Given the description of an element on the screen output the (x, y) to click on. 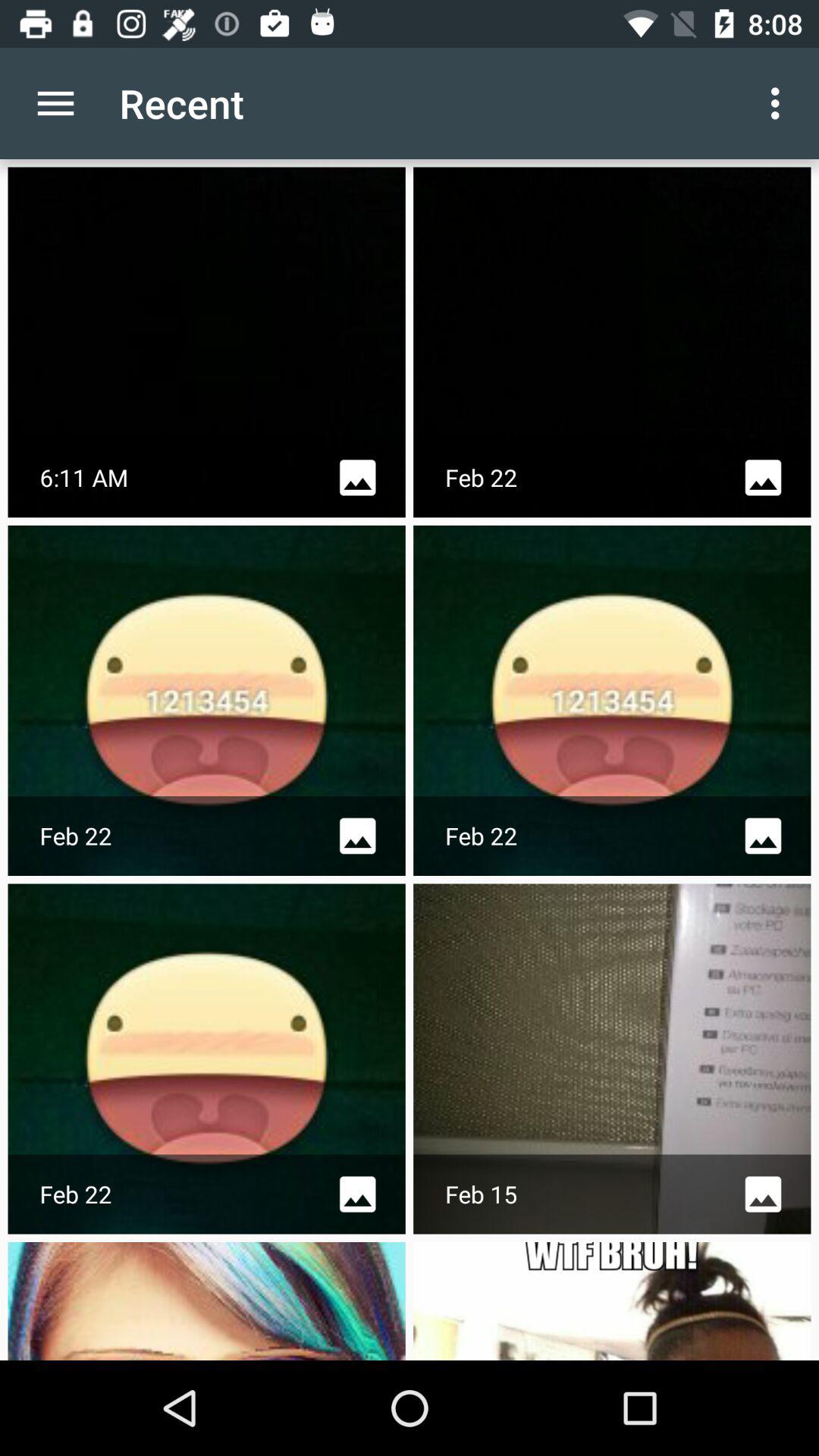
turn on the icon next to the recent (779, 103)
